Given the description of an element on the screen output the (x, y) to click on. 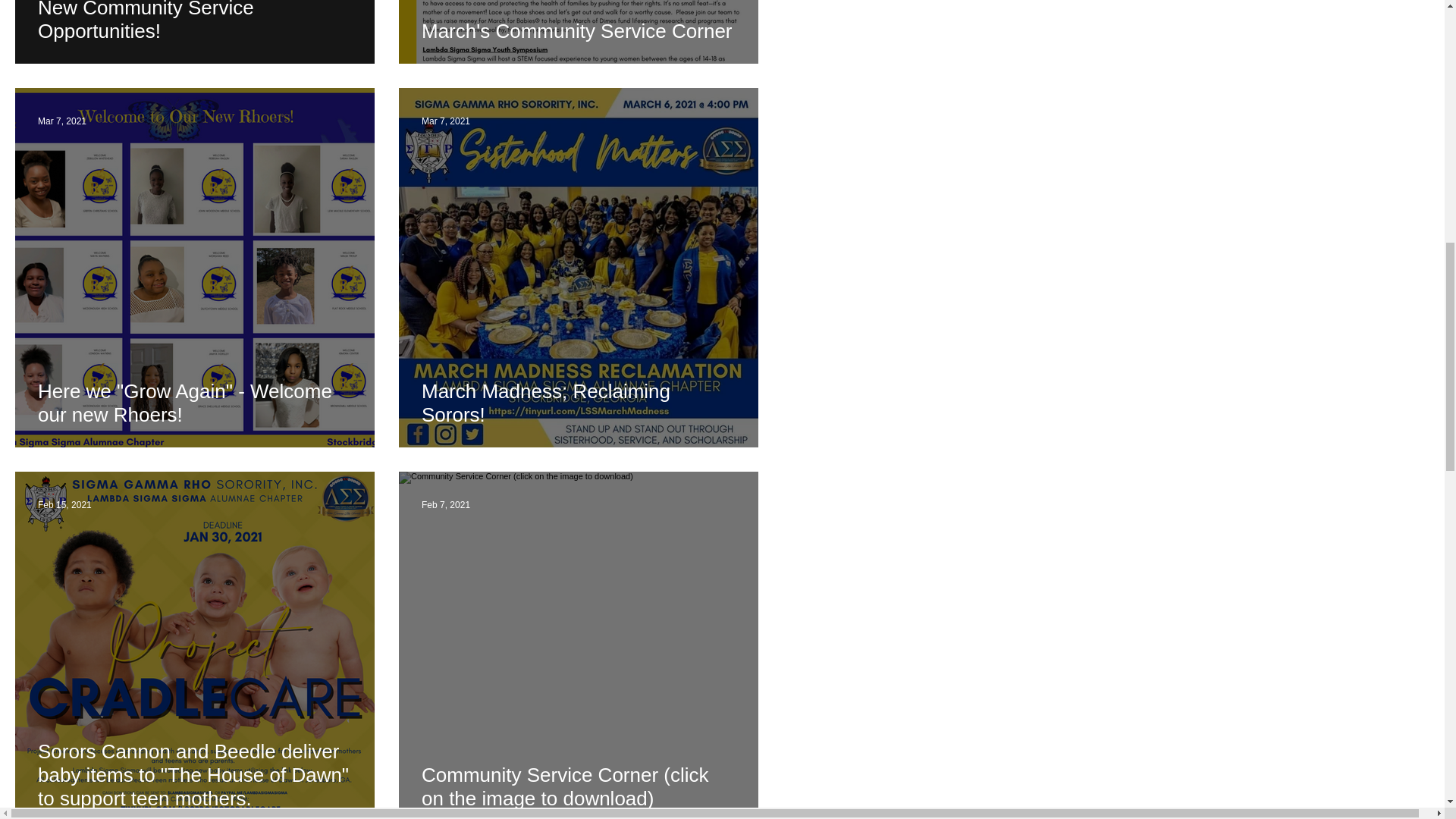
March's Community Service Corner (578, 30)
Feb 15, 2021 (64, 504)
Mar 7, 2021 (61, 121)
Mar 7, 2021 (446, 121)
New Community Service Opportunities! (194, 21)
Here we "Grow Again" - Welcome our new Rhoers! (194, 402)
March Madness; Reclaiming Sorors! (578, 402)
Feb 7, 2021 (446, 504)
